Given the description of an element on the screen output the (x, y) to click on. 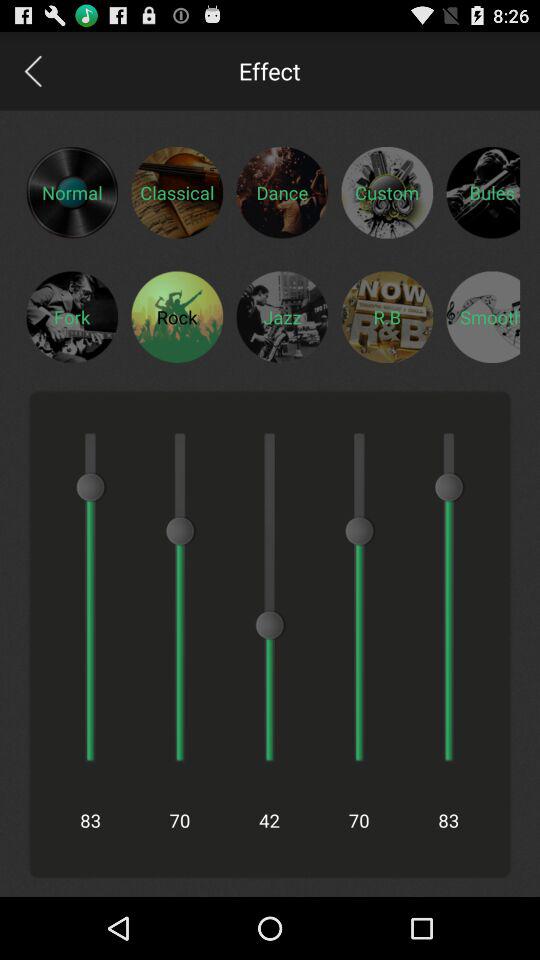
turn off app next to the effect icon (32, 70)
